Given the description of an element on the screen output the (x, y) to click on. 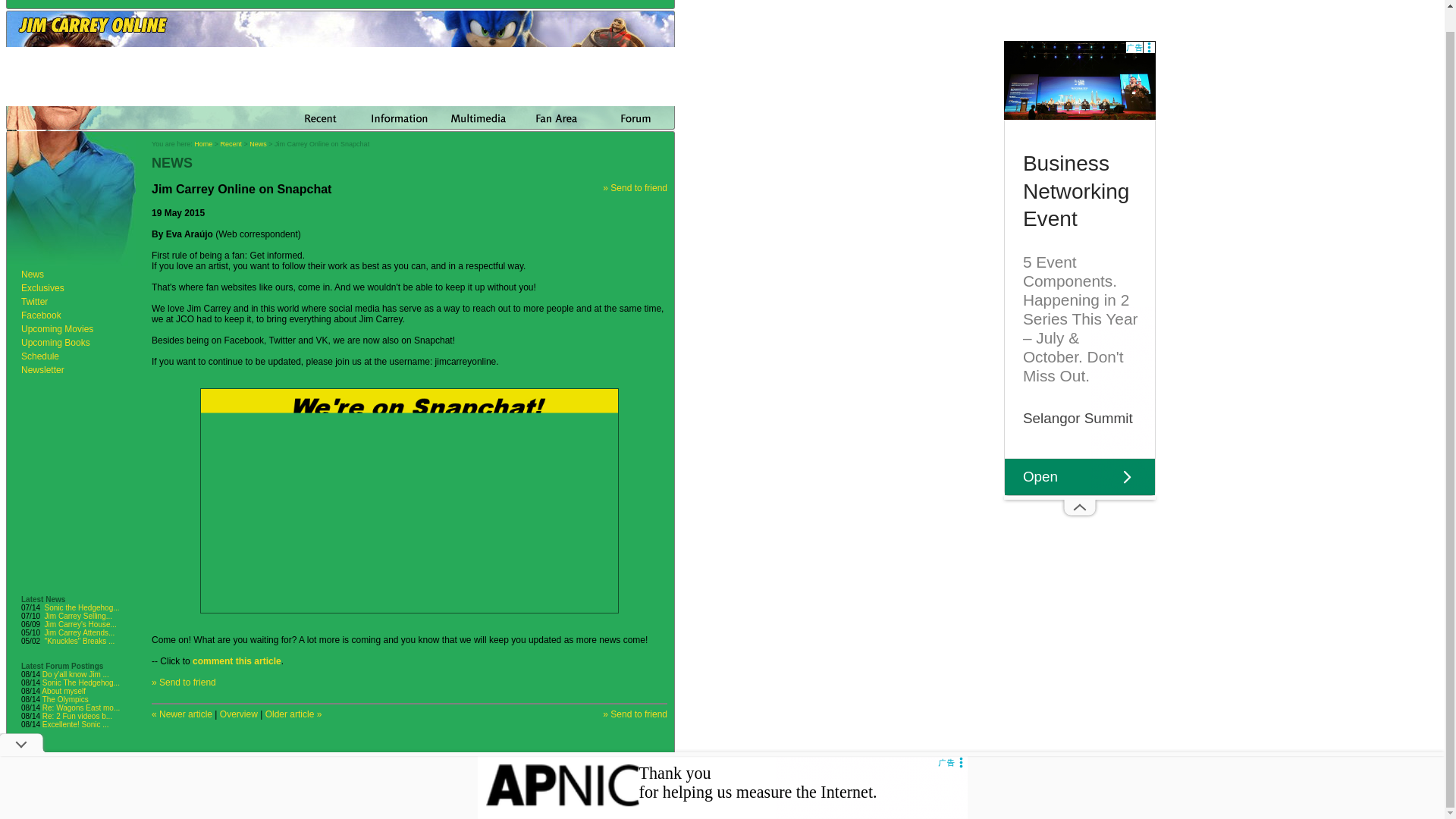
Sonic the Hedgehog 3 is complete (82, 607)
Advertisement (722, 765)
Jim Carrey Attends Jeff Ross Comedy Show (80, 632)
Jim Carrey Selling Personal Items (78, 615)
Jim Carrey's House Price Reduced (80, 623)
Advertisement (340, 775)
